Given the description of an element on the screen output the (x, y) to click on. 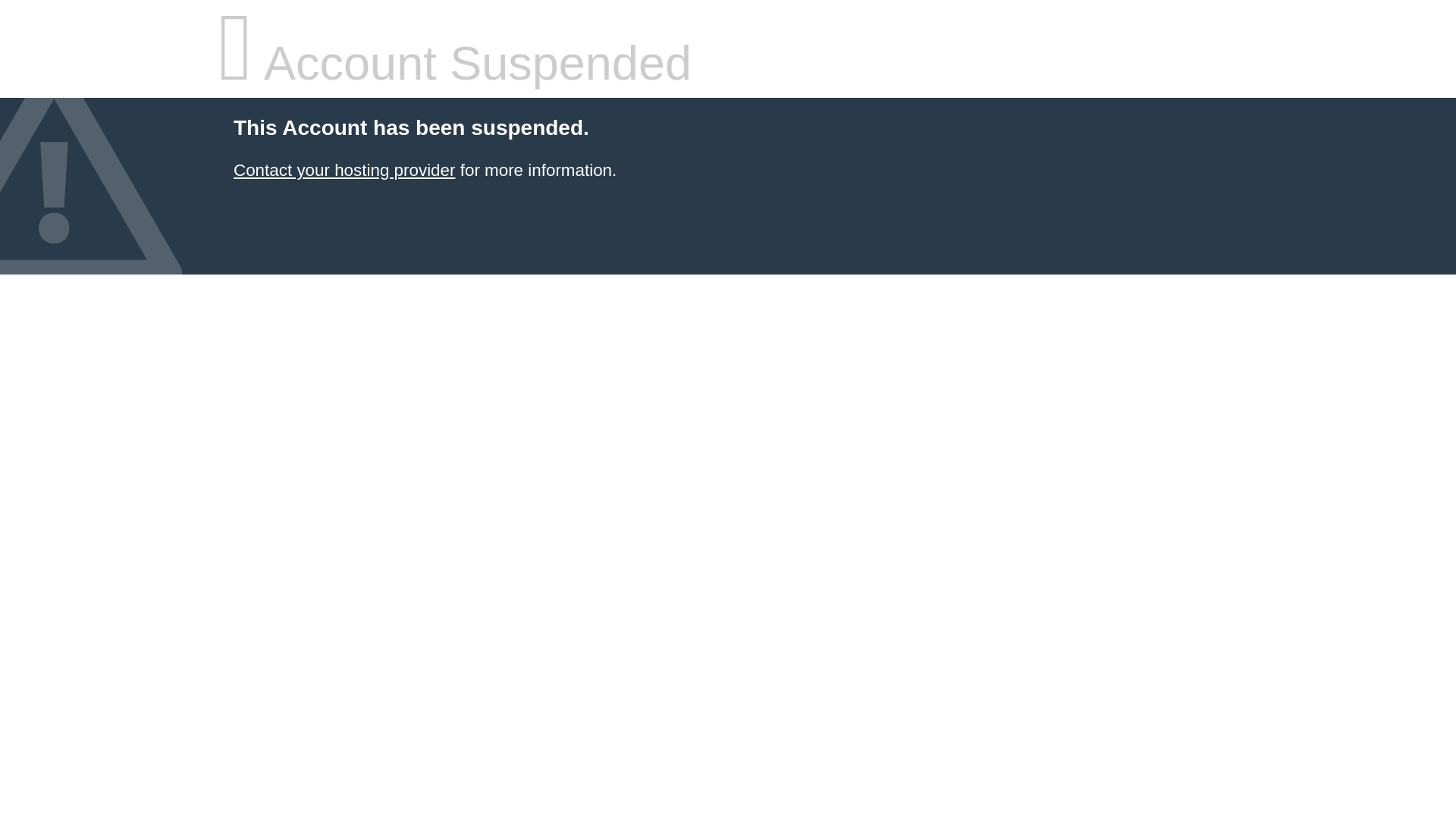
Contact your hosting provider (343, 169)
